Given the description of an element on the screen output the (x, y) to click on. 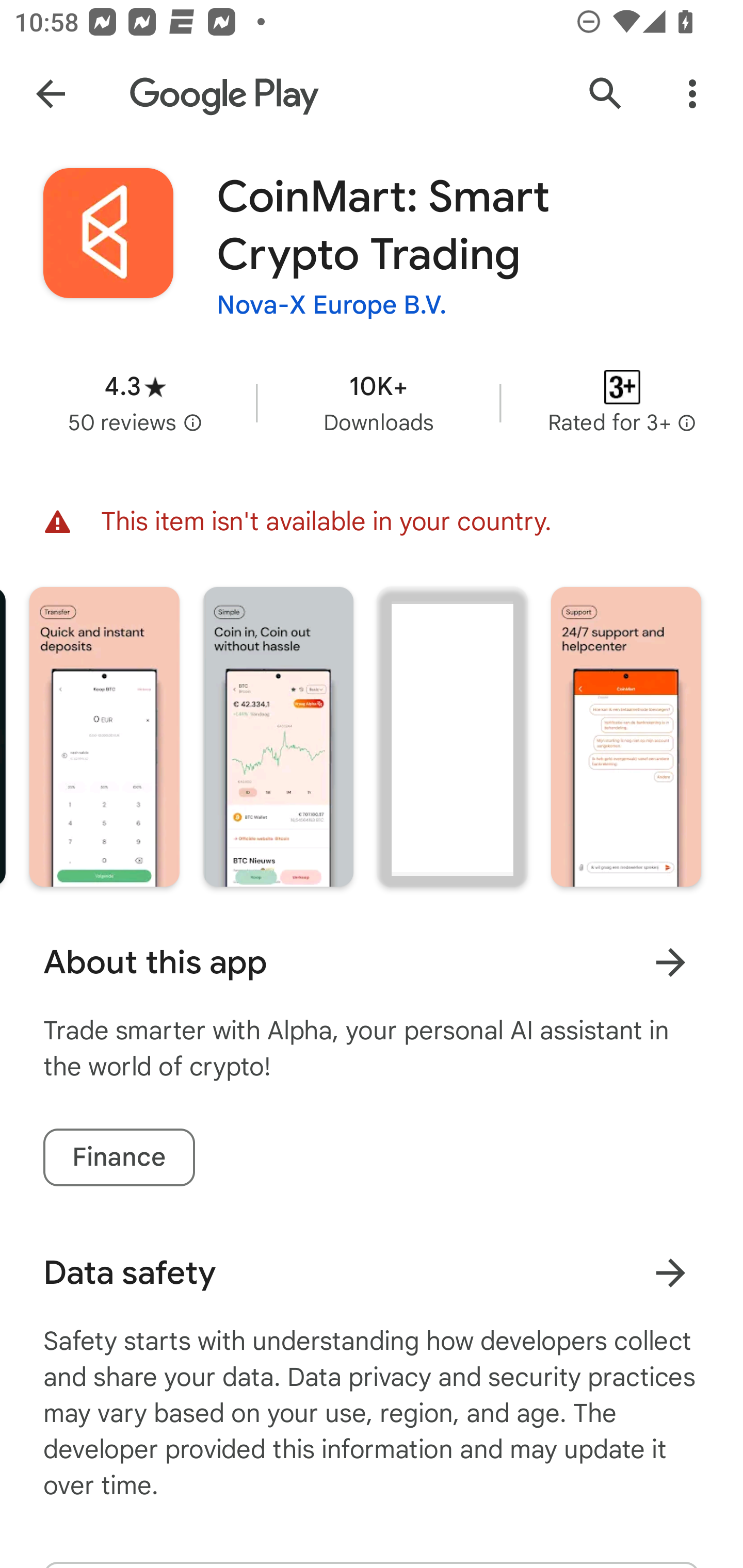
Navigate up (50, 93)
Search Google Play (605, 93)
More Options (692, 93)
Nova-X Europe B.V. (331, 304)
Average rating 4.3 stars in 50 reviews (135, 402)
Content rating Rated for 3+ (622, 402)
Screenshot "4" of "7" (104, 735)
Screenshot "5" of "7" (278, 735)
Screenshot "6" of "7" (452, 735)
Screenshot "7" of "7" (626, 735)
About this app Learn more About this app (371, 962)
Learn more About this app (670, 961)
Finance tag (118, 1157)
Data safety Learn more about data safety (371, 1273)
Learn more about data safety (670, 1272)
